Given the description of an element on the screen output the (x, y) to click on. 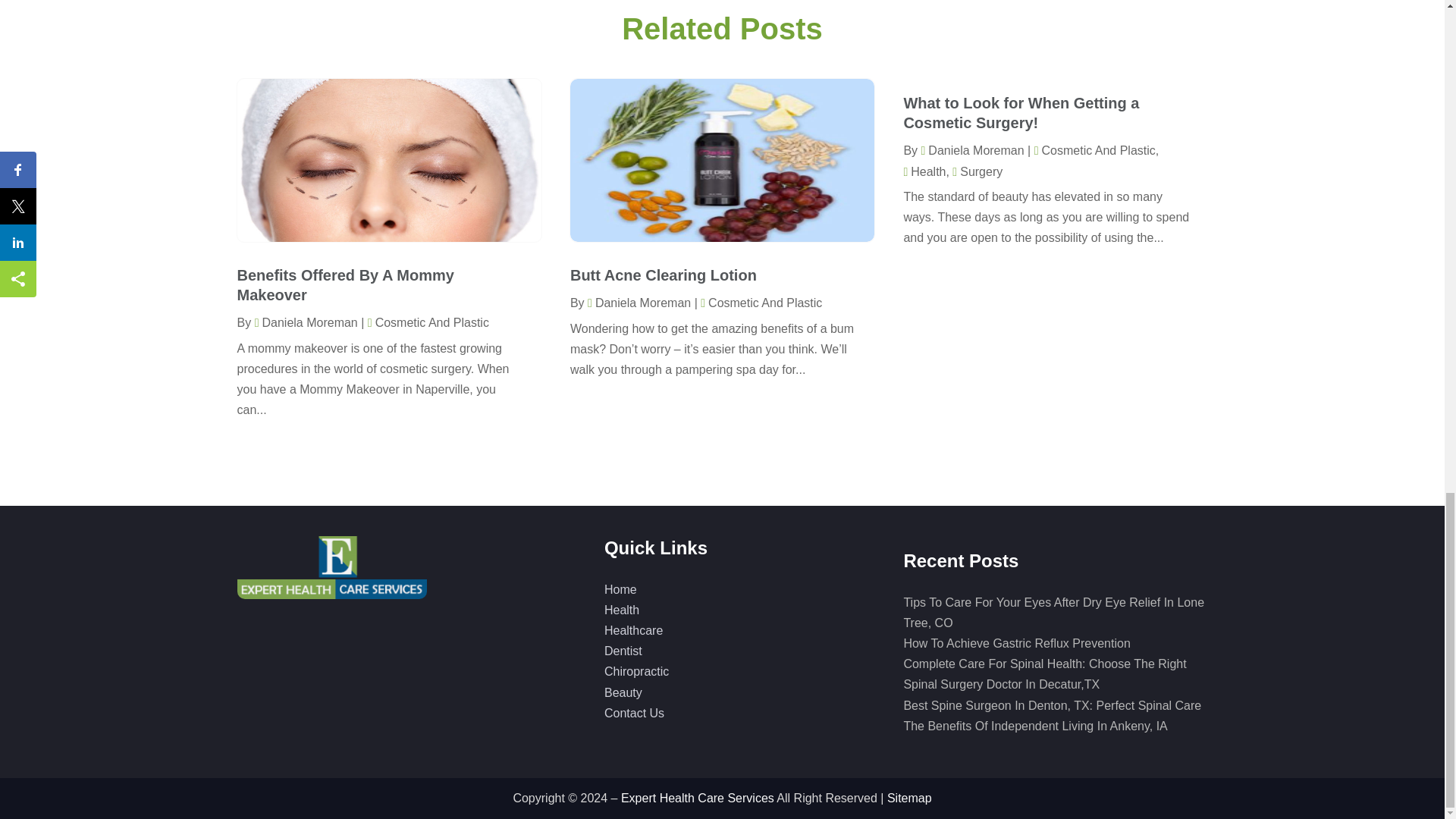
Posts by Daniela Moreman (639, 302)
Posts by Daniela Moreman (971, 150)
Expert Health Care Services (330, 567)
Posts by Daniela Moreman (306, 322)
